Given the description of an element on the screen output the (x, y) to click on. 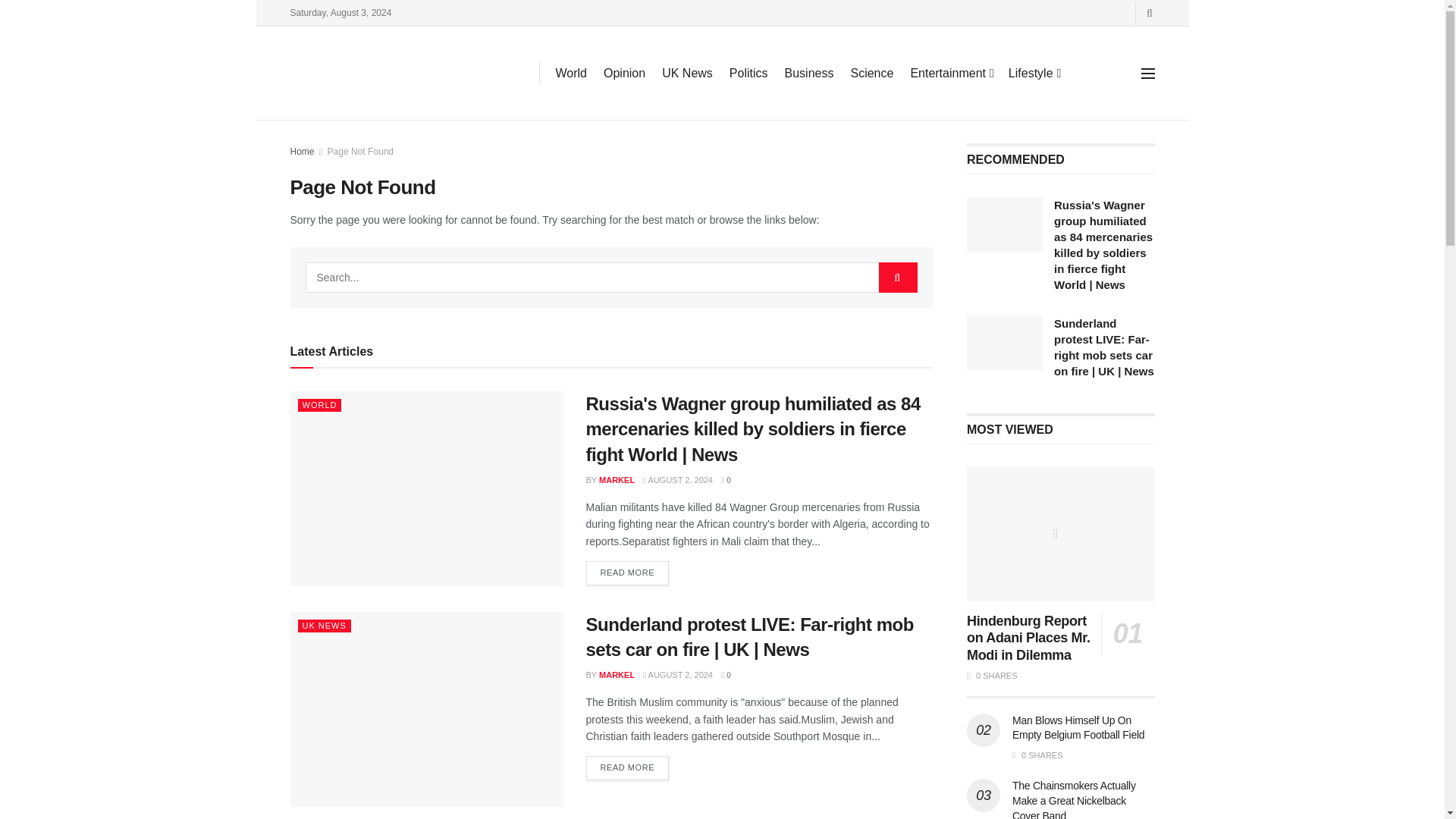
Politics (748, 73)
Science (871, 73)
Business (809, 73)
Entertainment (950, 73)
Opinion (624, 73)
World (570, 73)
UK News (687, 73)
Lifestyle (1034, 73)
